Given the description of an element on the screen output the (x, y) to click on. 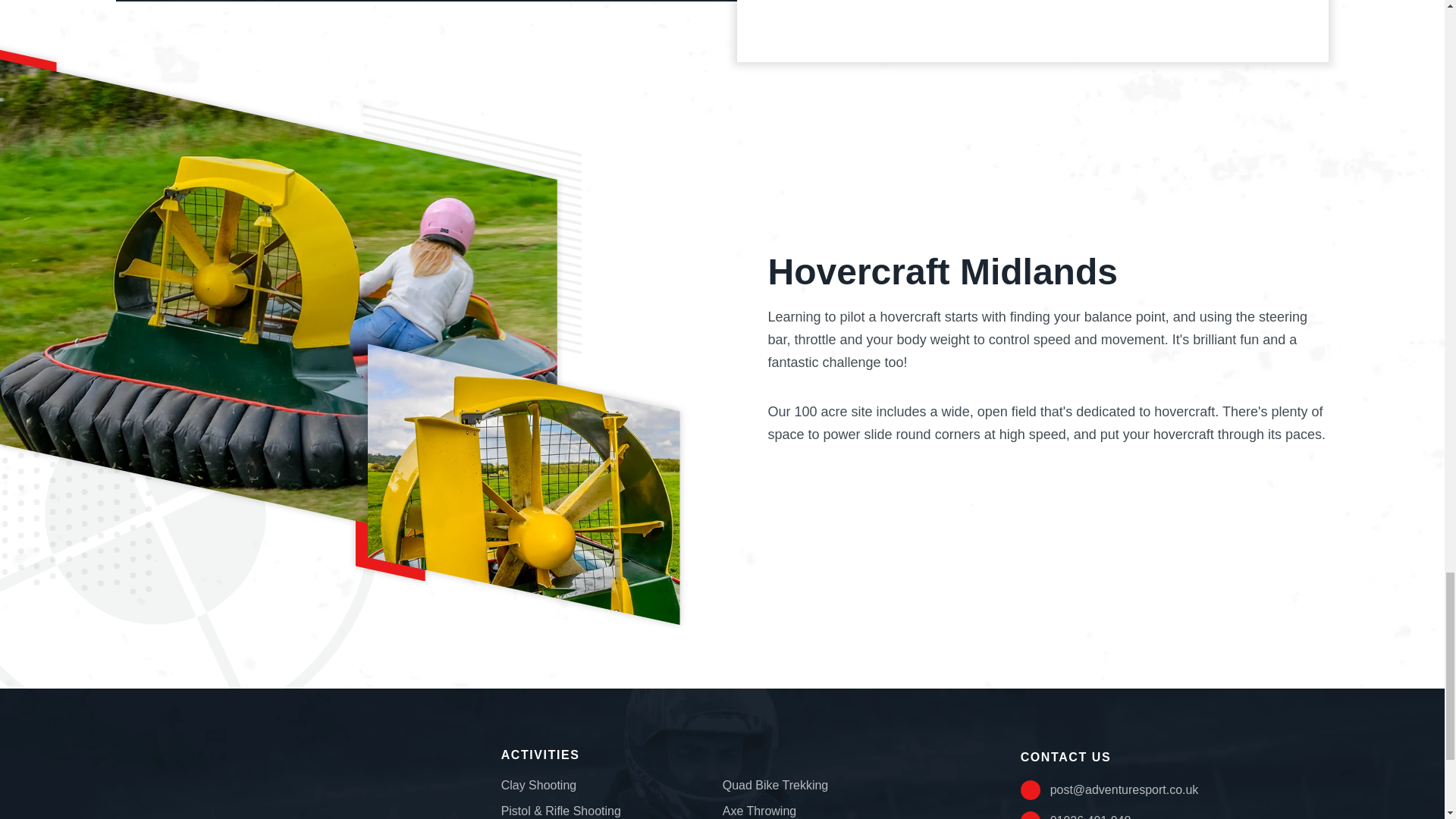
Clay Shooting (538, 784)
Quad Bike Trekking (775, 784)
Axe Throwing (759, 810)
